Given the description of an element on the screen output the (x, y) to click on. 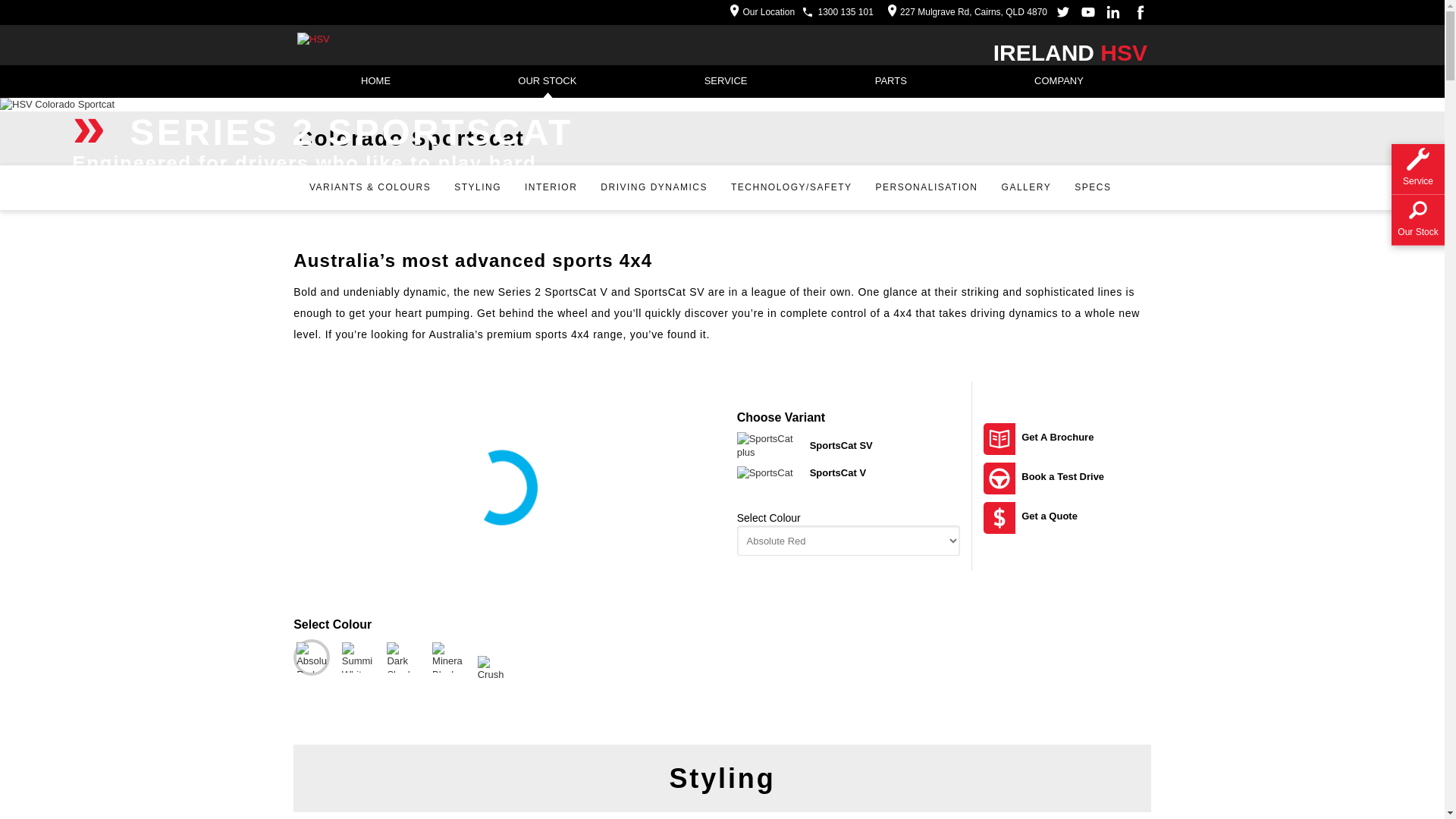
DRIVING DYNAMICS Element type: text (653, 187)
GALLERY Element type: text (1026, 187)
TECHNOLOGY/SAFETY Element type: text (790, 187)
IRELAND HSV Element type: text (1070, 52)
Our Location Element type: text (757, 11)
1300 135 101 Element type: text (844, 11)
LinkedIn Element type: text (1113, 12)
PARTS Element type: text (890, 81)
Get A Brochure Element type: text (1067, 439)
STYLING Element type: text (477, 187)
SERVICE Element type: text (725, 81)
OUR STOCK Element type: text (547, 81)
COMPANY Element type: text (1058, 81)
HOME Element type: text (375, 81)
Get a Quote Element type: text (1067, 517)
PERSONALISATION Element type: text (926, 187)
Twitter Element type: text (1063, 12)
VARIANTS & COLOURS Element type: text (369, 187)
SPECS Element type: text (1092, 187)
YouTube Element type: text (1088, 12)
227 Mulgrave Rd, Cairns, QLD 4870 Element type: text (963, 11)
Book a Test Drive Element type: text (1067, 478)
Facebook Element type: text (1138, 12)
INTERIOR Element type: text (550, 187)
